Given the description of an element on the screen output the (x, y) to click on. 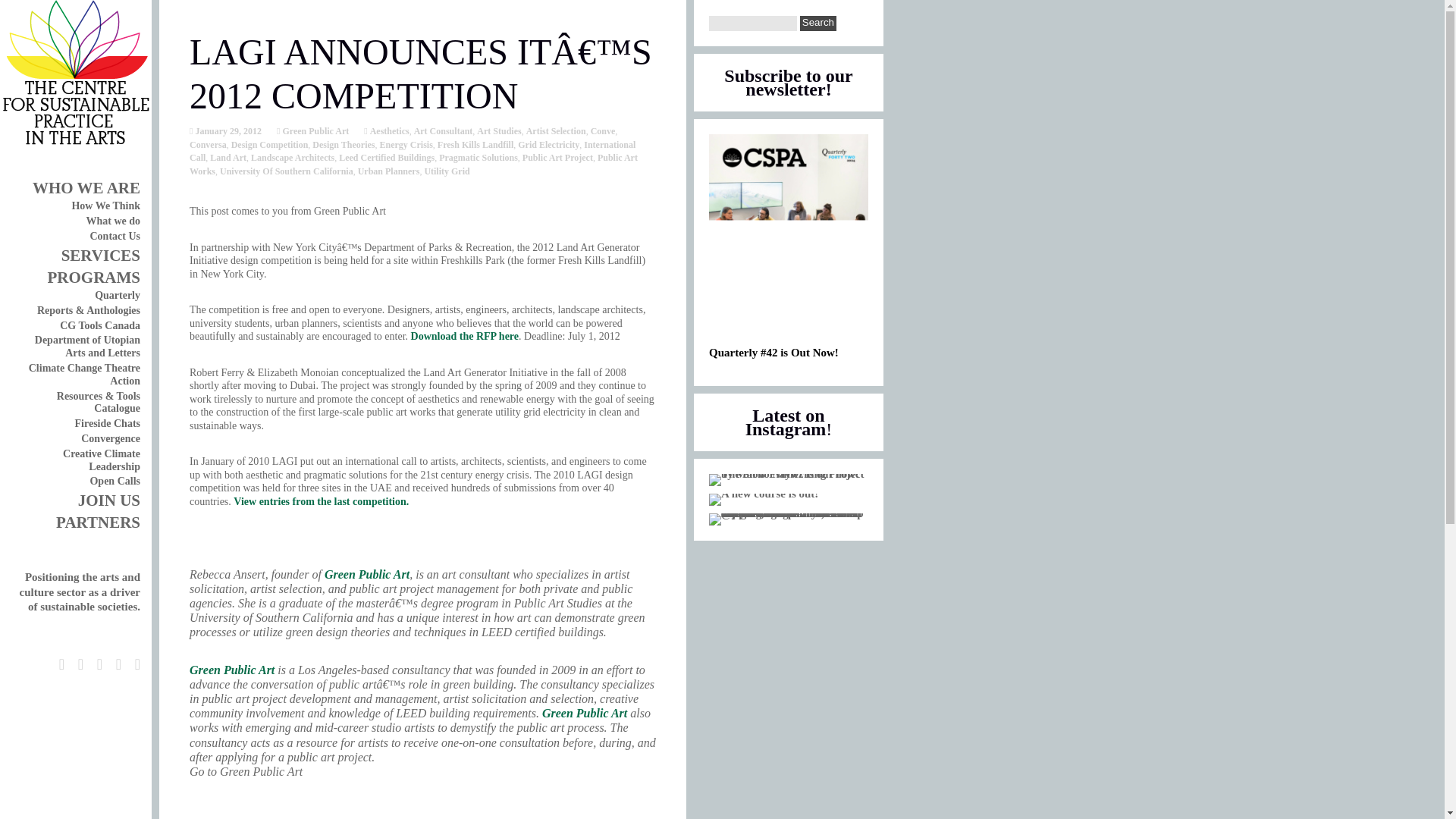
PROGRAMS (92, 277)
Search (817, 23)
CG Tools Canada (99, 325)
What we do (112, 220)
Creative Climate Leadership (100, 459)
How We Think (105, 205)
Artist Selection (555, 131)
January 29, 2012 (227, 131)
JOIN US (108, 500)
SERVICES (100, 255)
Art Studies (499, 131)
WHO WE ARE (85, 188)
Green Public Art (314, 131)
Quarterly (116, 295)
